Given the description of an element on the screen output the (x, y) to click on. 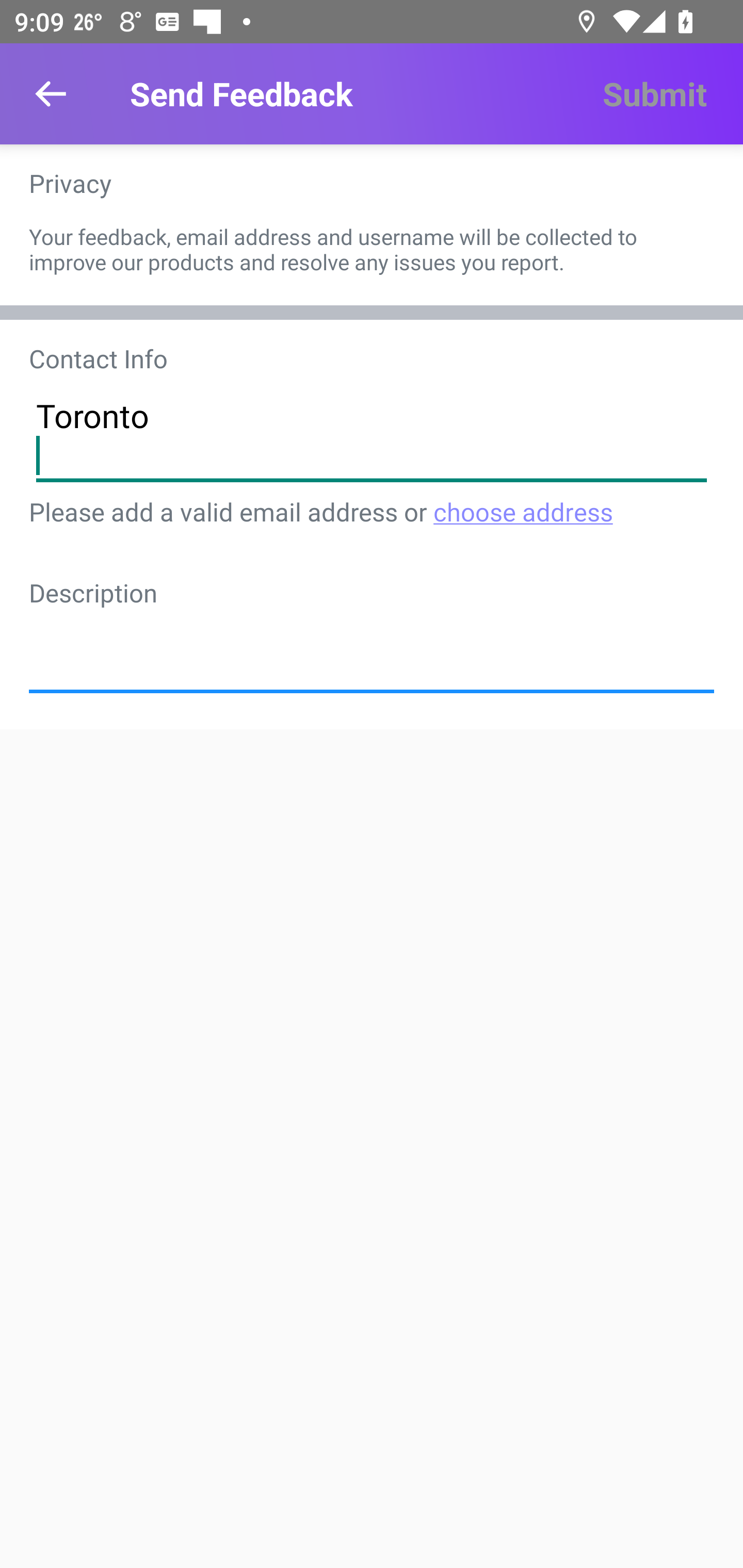
Navigate up (50, 93)
Submit (654, 94)
Toronto
 (371, 433)
choose address (522, 510)
feedback (371, 645)
